Given the description of an element on the screen output the (x, y) to click on. 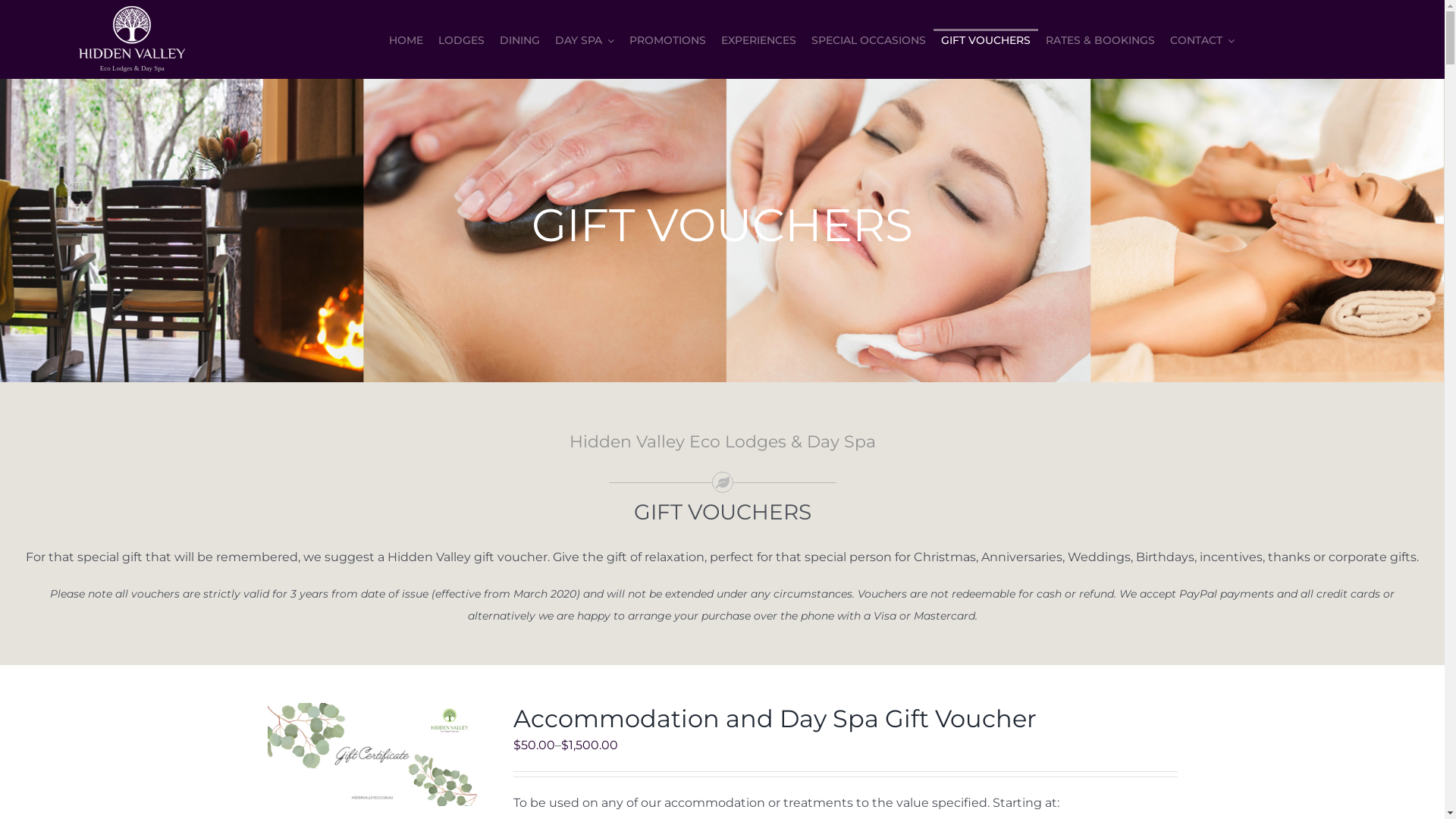
PROMOTIONS Element type: text (667, 39)
DINING Element type: text (519, 39)
DAY SPA Element type: text (584, 39)
Accommodation and Day Spa Gift Voucher Element type: text (773, 718)
HOME Element type: text (405, 39)
GIFT VOUCHERS Element type: text (985, 39)
EXPERIENCES Element type: text (758, 39)
RATES & BOOKINGS Element type: text (1100, 39)
LODGES Element type: text (461, 39)
CONTACT Element type: text (1202, 39)
SPECIAL OCCASIONS Element type: text (868, 39)
